Given the description of an element on the screen output the (x, y) to click on. 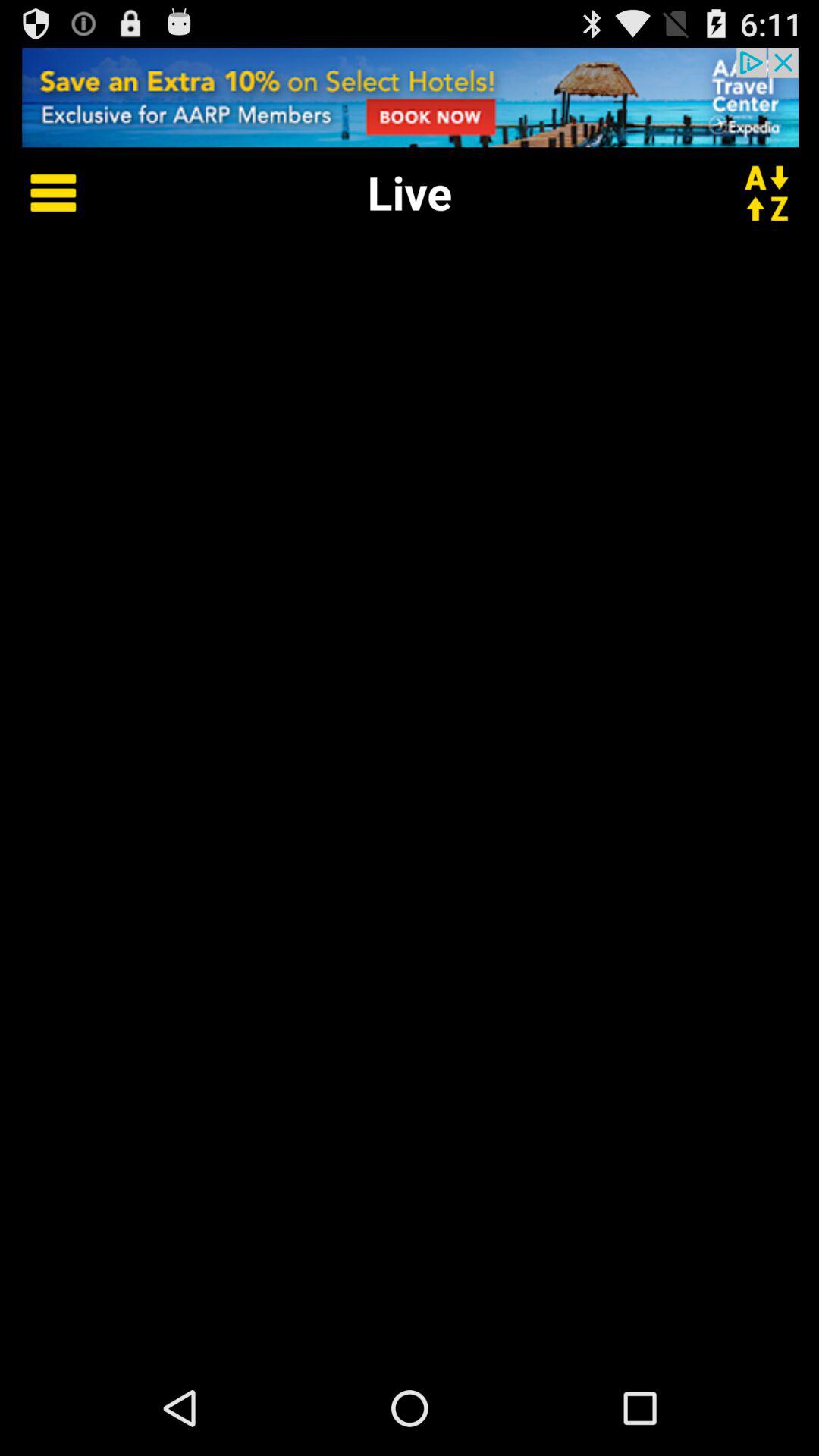
open advertisement (409, 97)
